Given the description of an element on the screen output the (x, y) to click on. 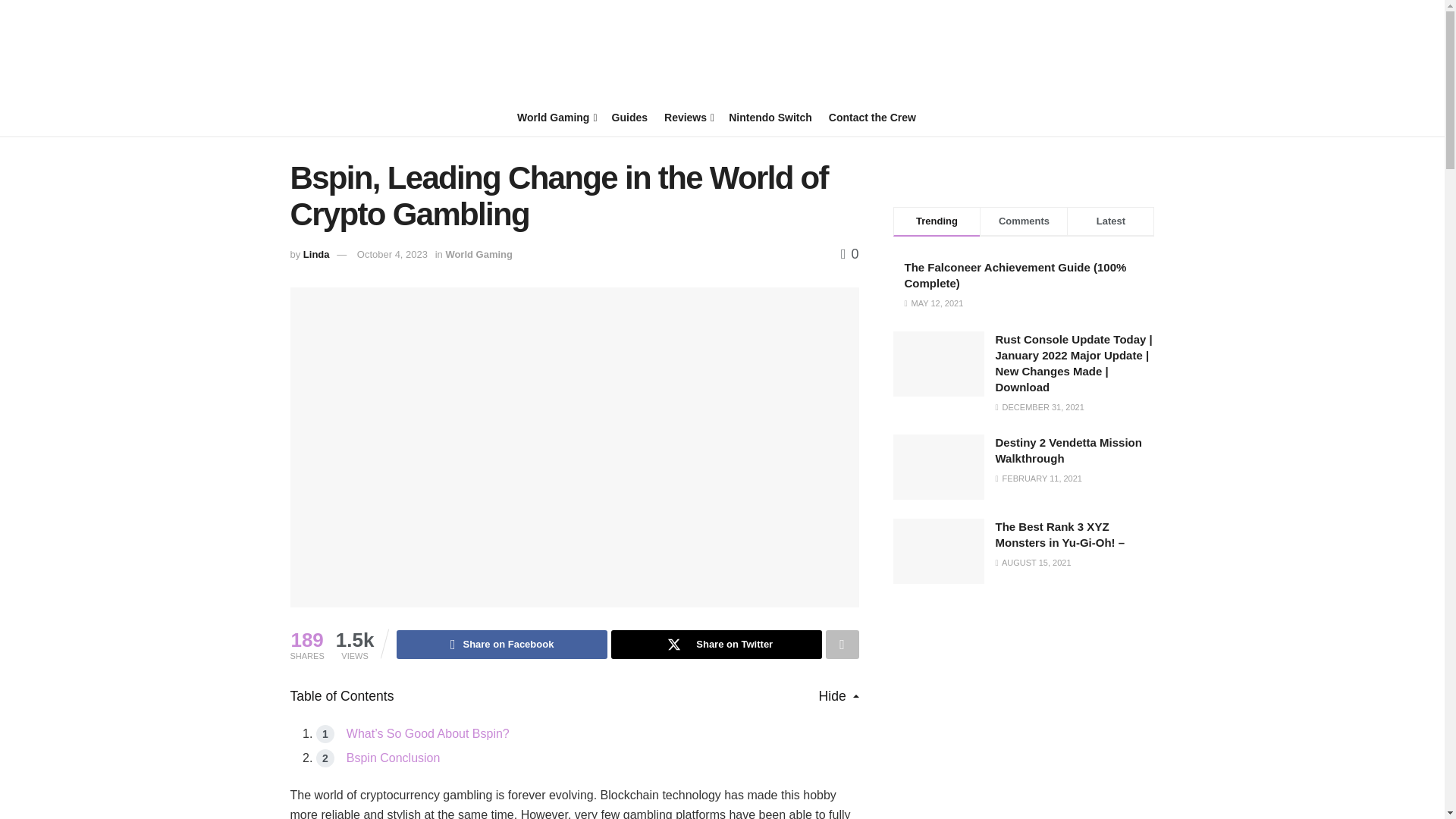
Linda (316, 254)
October 4, 2023 (392, 254)
0 (850, 253)
Share on Facebook (501, 644)
Reviews (687, 117)
Bspin Conclusion (393, 757)
Share on Twitter (716, 644)
Guides (629, 117)
World Gaming (555, 117)
Nintendo Switch (770, 117)
